Given the description of an element on the screen output the (x, y) to click on. 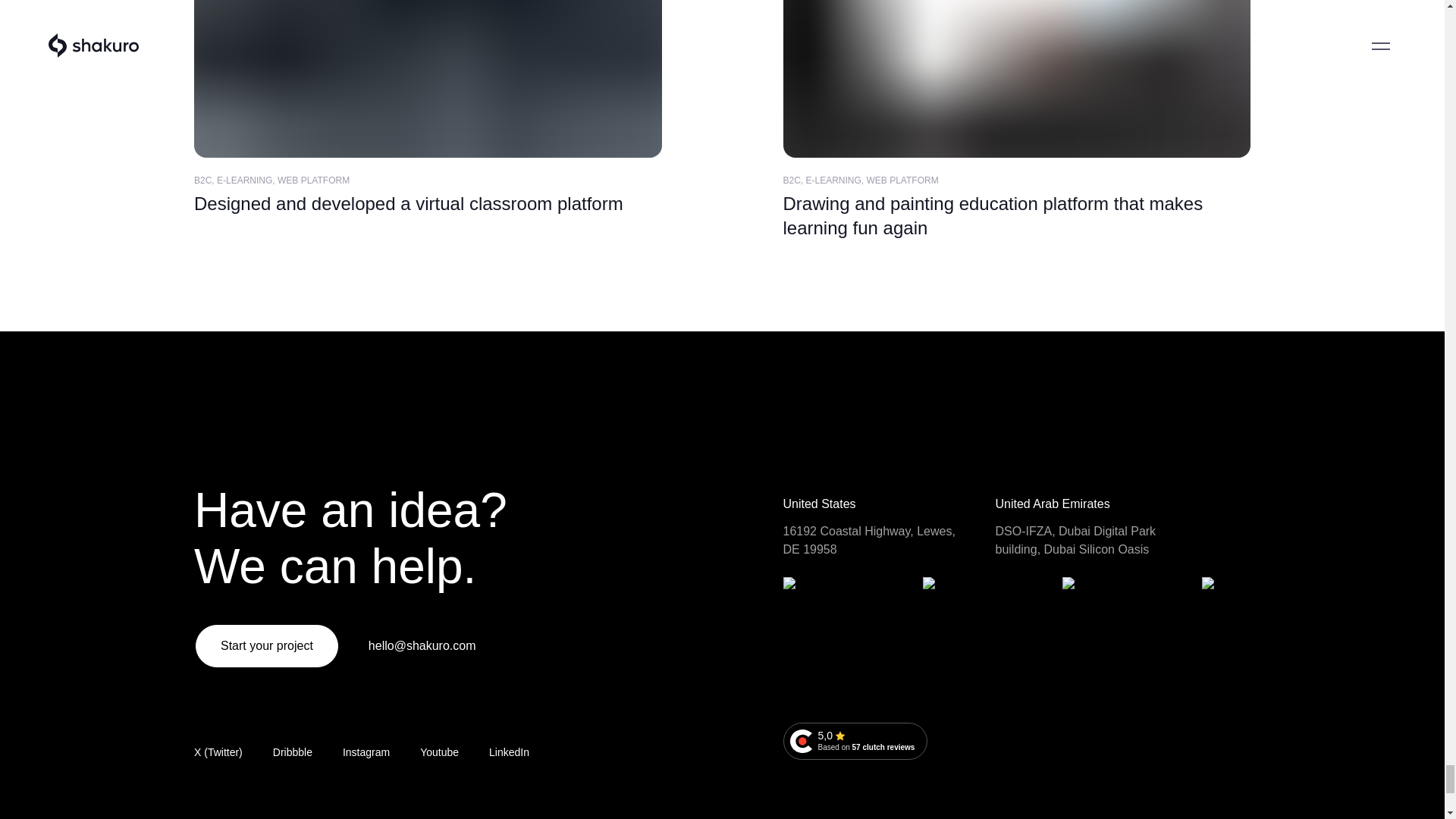
Youtube (855, 741)
Web Development (439, 753)
WordPress (237, 431)
LinkedIn (417, 431)
Instagram (509, 753)
Dribbble (366, 753)
Youtube (293, 753)
ROR (439, 753)
ROR (363, 431)
Instagram (363, 431)
LinkedIn (366, 753)
Mobile App Development (509, 753)
Dribbble (253, 455)
